Given the description of an element on the screen output the (x, y) to click on. 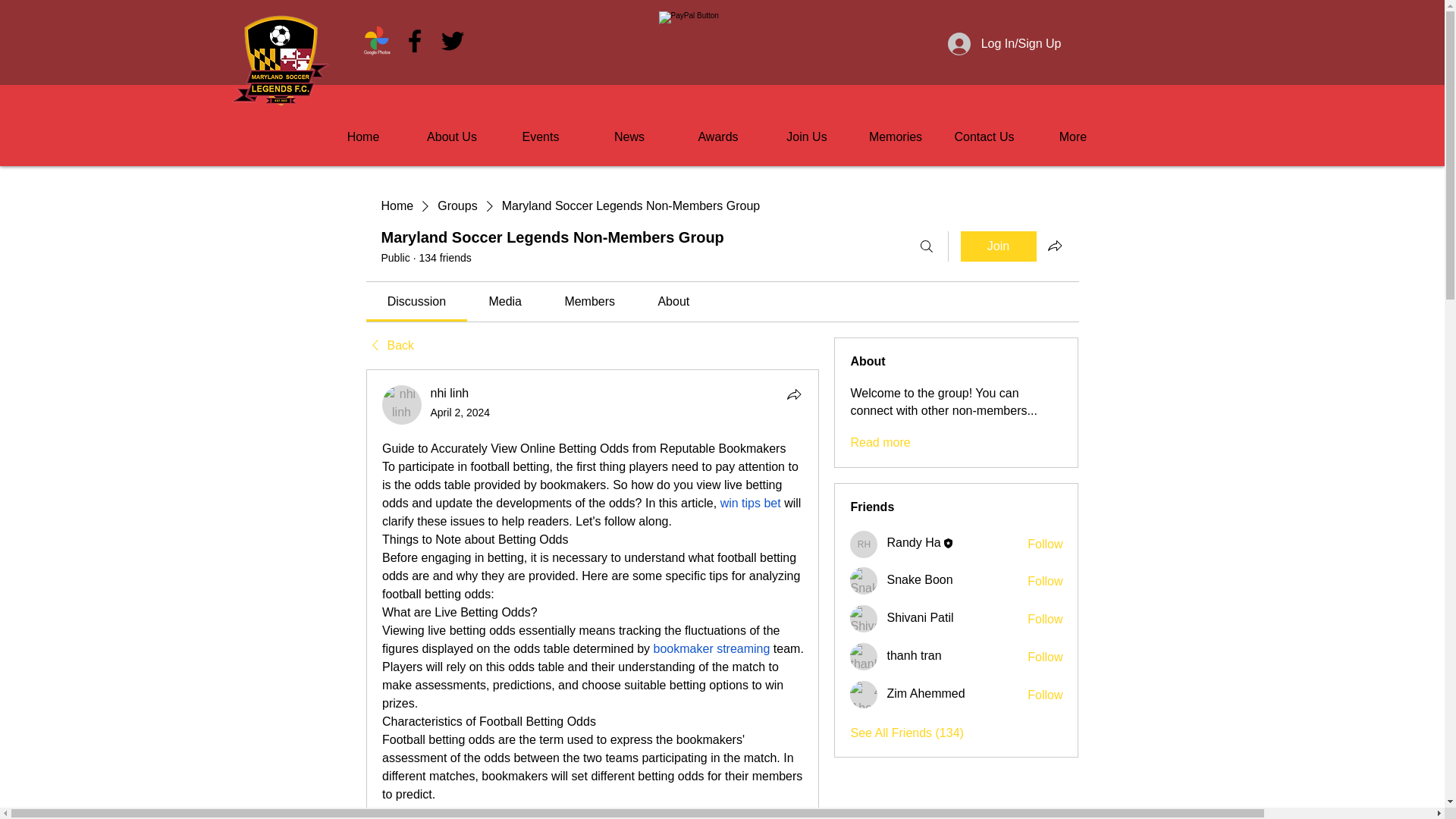
Snake Boon (863, 580)
win tips bet (749, 502)
Contact Us (984, 130)
Shivani Patil (863, 618)
Groups (457, 206)
Home (396, 206)
thanh tran (863, 656)
Randy Ha (863, 543)
Home (362, 130)
nhi linh (401, 404)
bookmaker streaming (711, 648)
Zim Ahemmed (863, 694)
Join (997, 245)
April 2, 2024 (460, 412)
Back (389, 345)
